Given the description of an element on the screen output the (x, y) to click on. 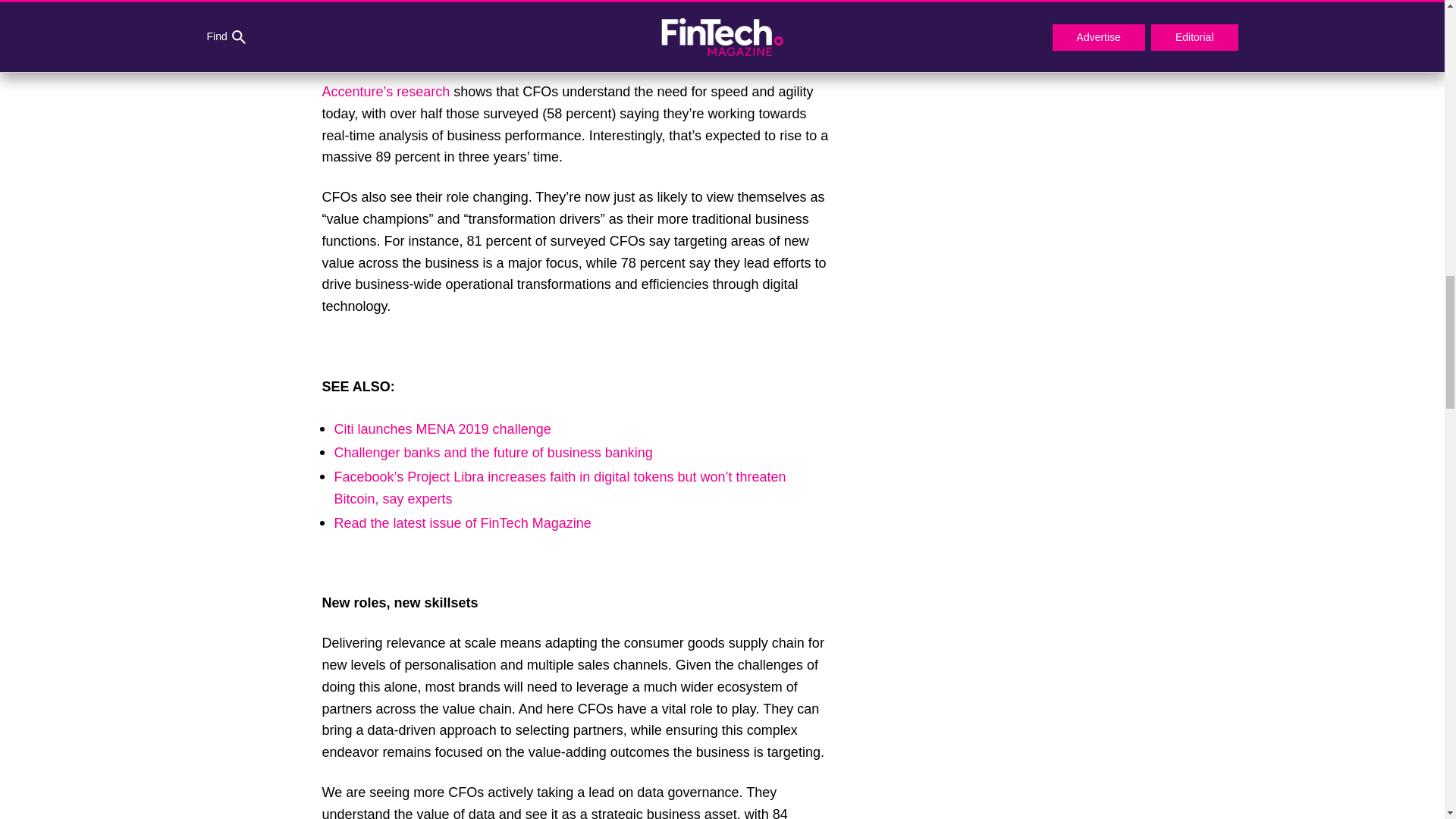
Citi launches MENA 2019 challenge (441, 428)
Read the latest issue of FinTech Magazine (462, 522)
Challenger banks and the future of business banking (492, 452)
